Given the description of an element on the screen output the (x, y) to click on. 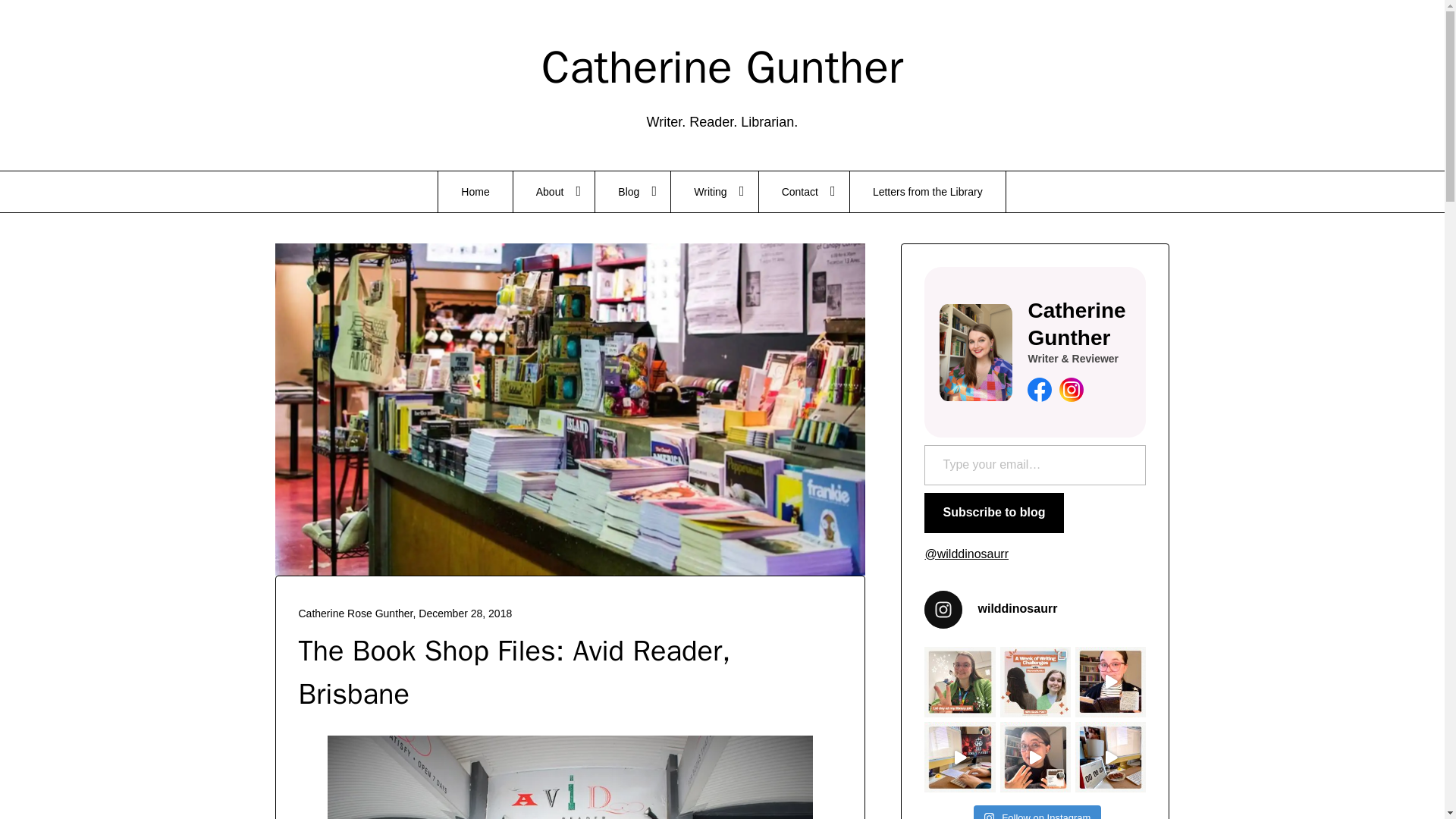
Home (475, 191)
Writing (714, 191)
Blog (632, 191)
About (554, 191)
Catherine Gunther (722, 67)
December 28, 2018 (465, 613)
Letters from the Library (928, 191)
Contact (803, 191)
